Given the description of an element on the screen output the (x, y) to click on. 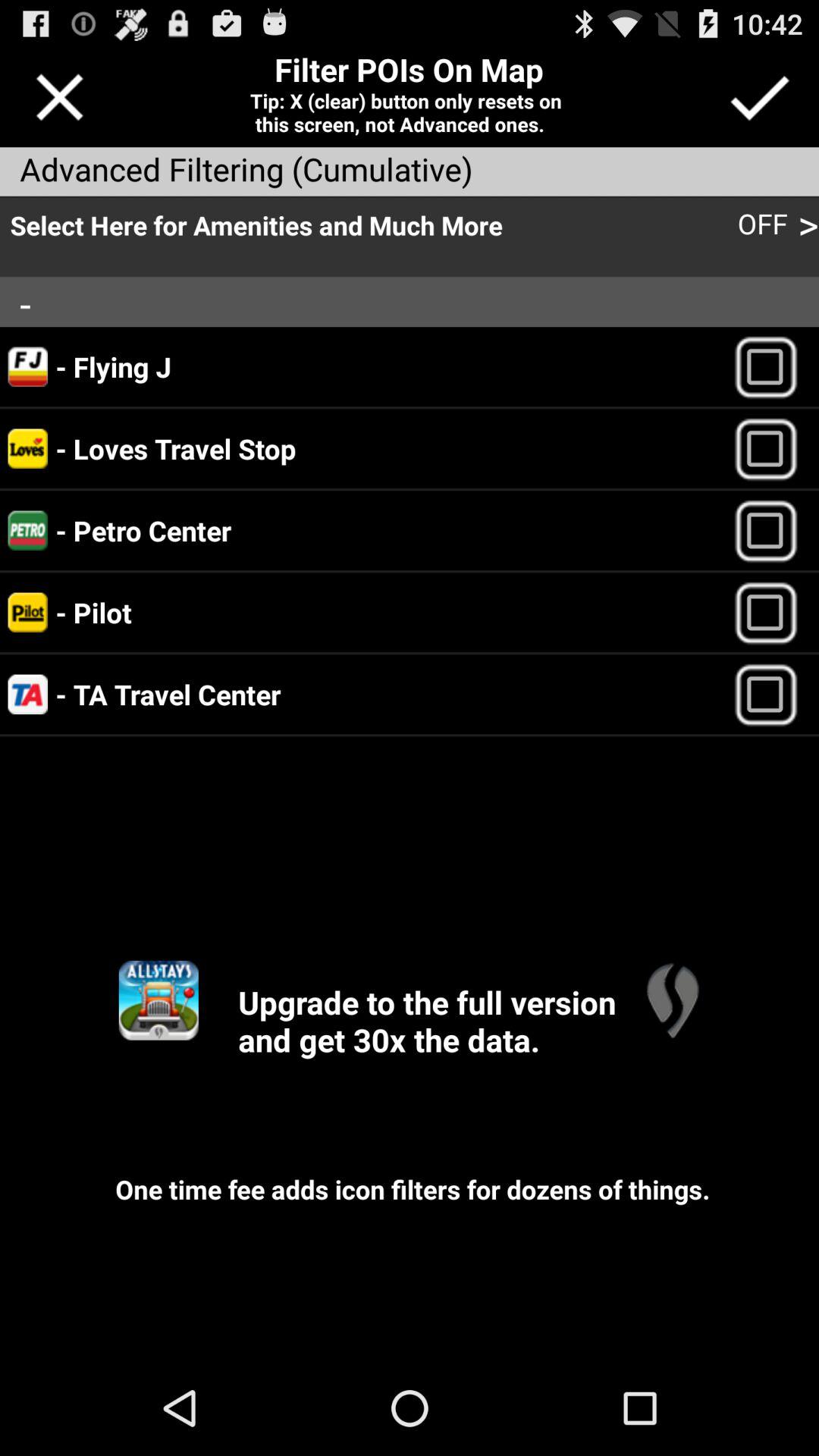
view the map (672, 1000)
